Given the description of an element on the screen output the (x, y) to click on. 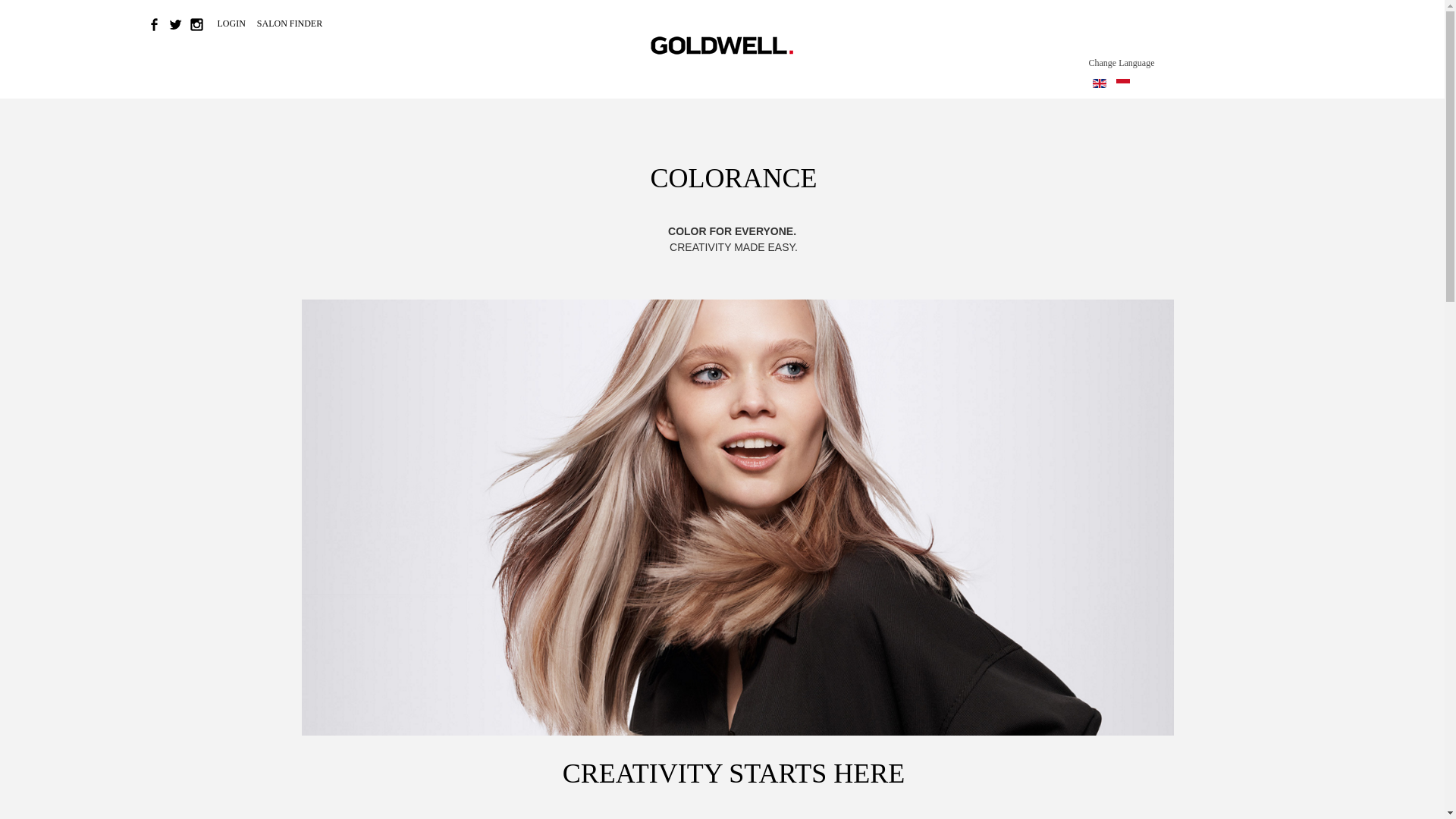
LOGIN (231, 23)
SALON FINDER (289, 23)
BahasaIndonesia (1122, 82)
